Given the description of an element on the screen output the (x, y) to click on. 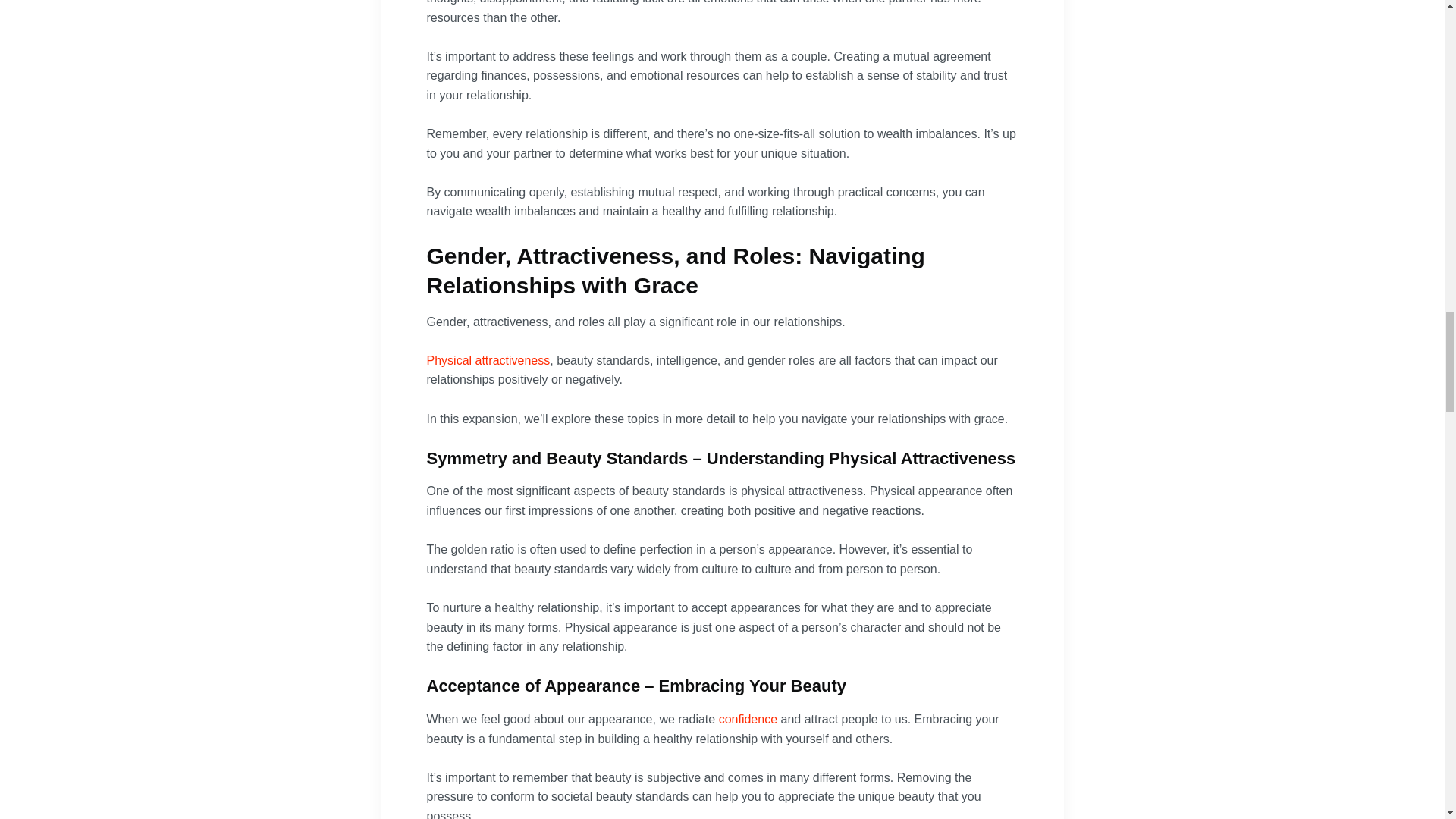
Physical attractiveness (488, 359)
confidence (748, 718)
